Given the description of an element on the screen output the (x, y) to click on. 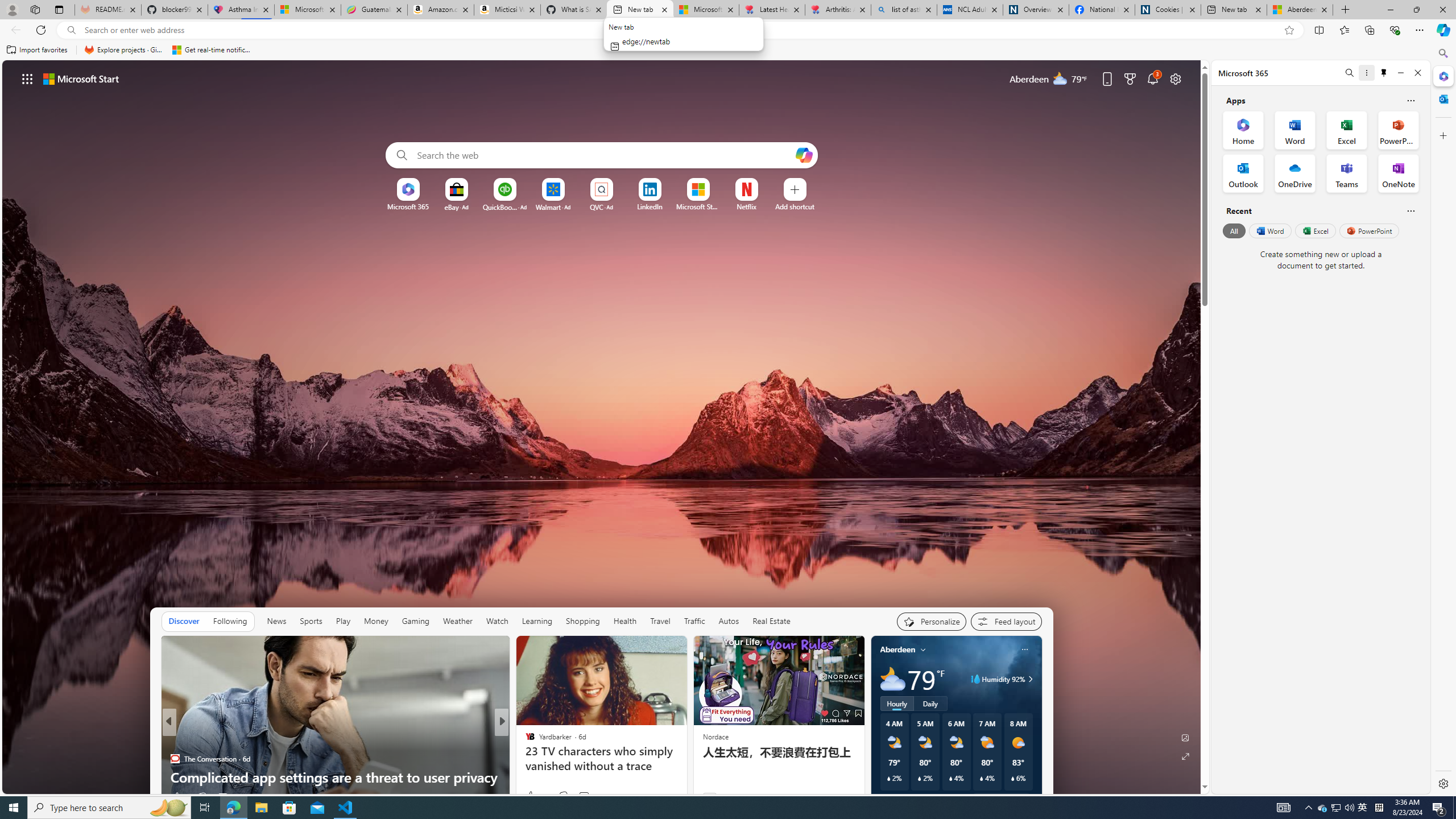
Complicated app settings are a threat to user privacy (335, 777)
Play (342, 621)
Add a site (793, 206)
Learning (536, 621)
NCL Adult Asthma Inhaler Choice Guideline (969, 9)
Gaming (415, 621)
View comments 88 Comment (585, 796)
Start the conversation (577, 796)
OneNote Office App (1398, 172)
The Washington Post (524, 740)
14 Things To Avoid Ordering At Wendy's And Why (684, 777)
